Given the description of an element on the screen output the (x, y) to click on. 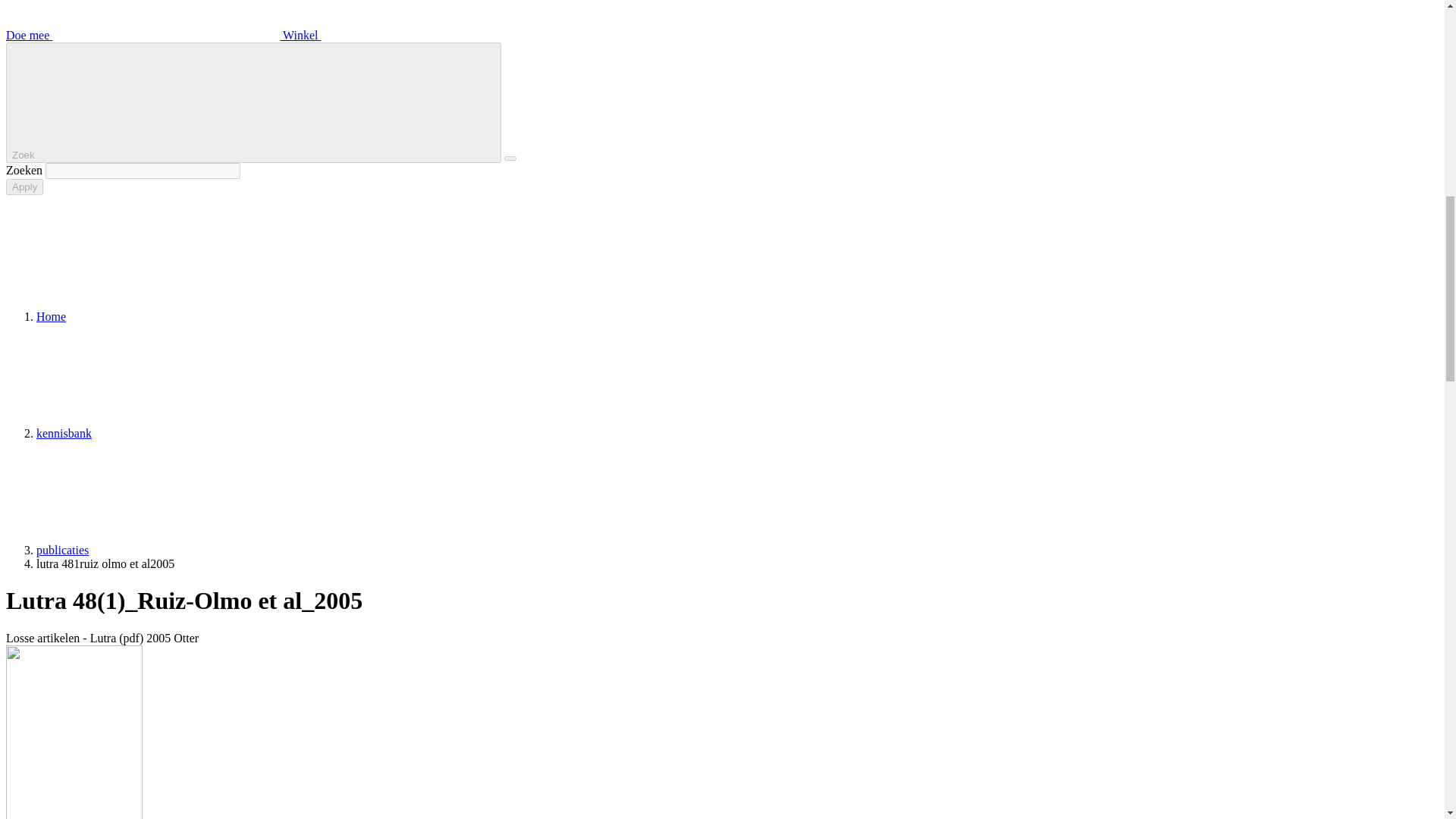
Open menu (509, 158)
kennisbank (63, 432)
Home (50, 316)
publicaties (252, 102)
Doe mee (62, 549)
Apply (143, 34)
Winkel (24, 186)
Apply (415, 34)
